Given the description of an element on the screen output the (x, y) to click on. 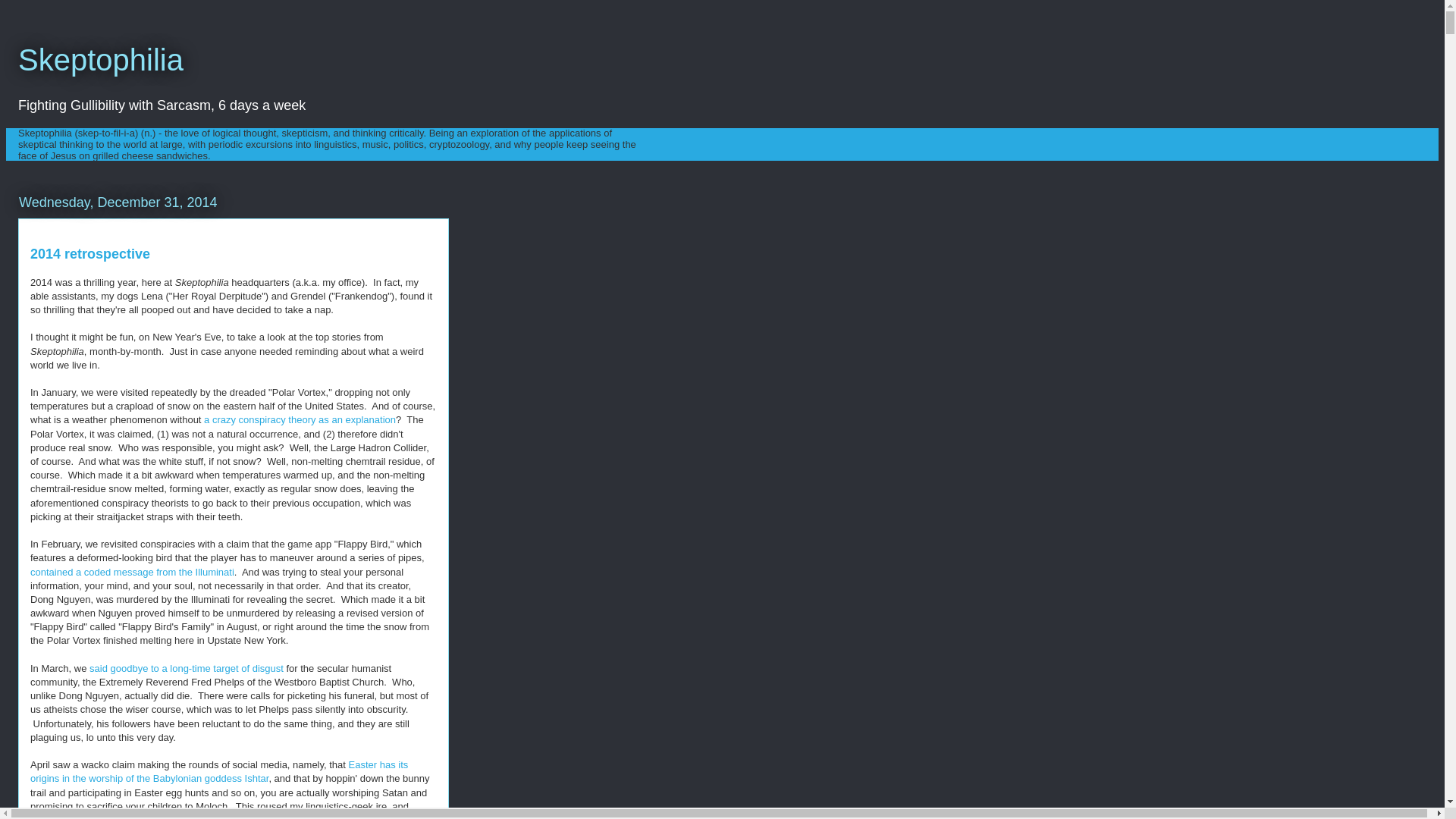
said goodbye to a long-time target of disgust (185, 668)
2014 retrospective (89, 253)
a crazy conspiracy theory as an explanation (299, 419)
Skeptophilia (100, 59)
contained a coded message from the Illuminati (132, 572)
